Given the description of an element on the screen output the (x, y) to click on. 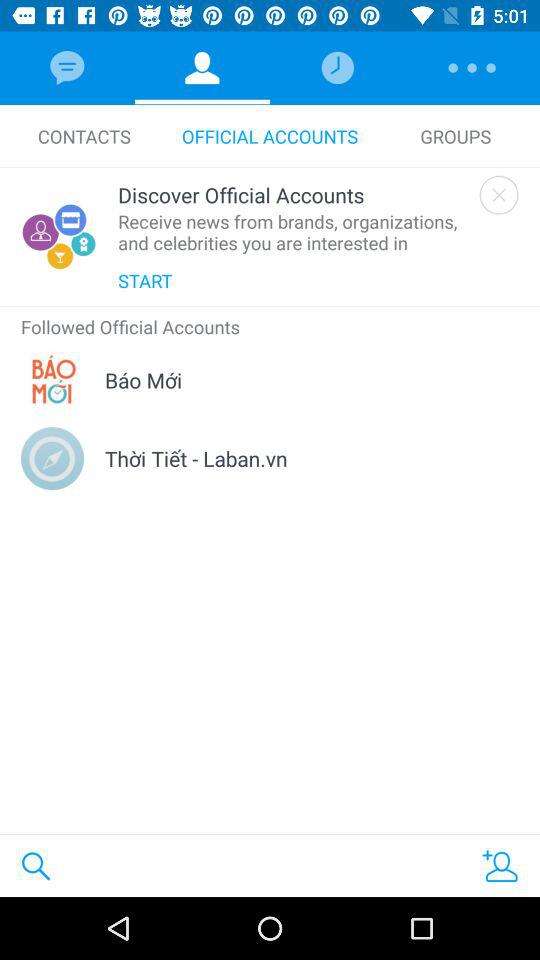
tap the icon next to discover official accounts icon (498, 194)
